Given the description of an element on the screen output the (x, y) to click on. 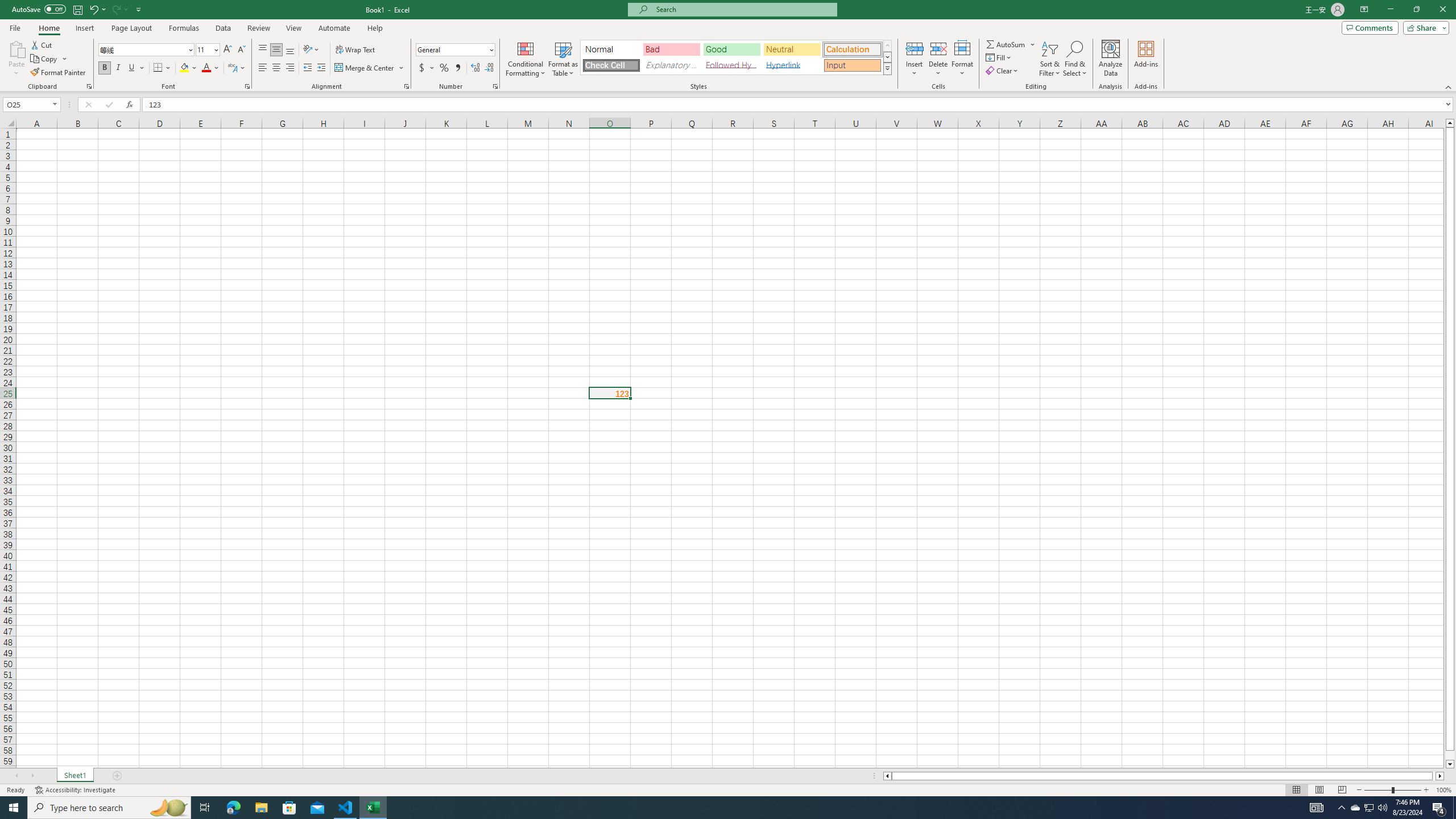
Check Cell (611, 65)
Explanatory Text (671, 65)
Show Phonetic Field (236, 67)
Format Cell Number (494, 85)
Sum (1006, 44)
Top Align (262, 49)
Format Painter (58, 72)
Bottom Align (290, 49)
Cut (42, 44)
Percent Style (443, 67)
Accounting Number Format (422, 67)
